Given the description of an element on the screen output the (x, y) to click on. 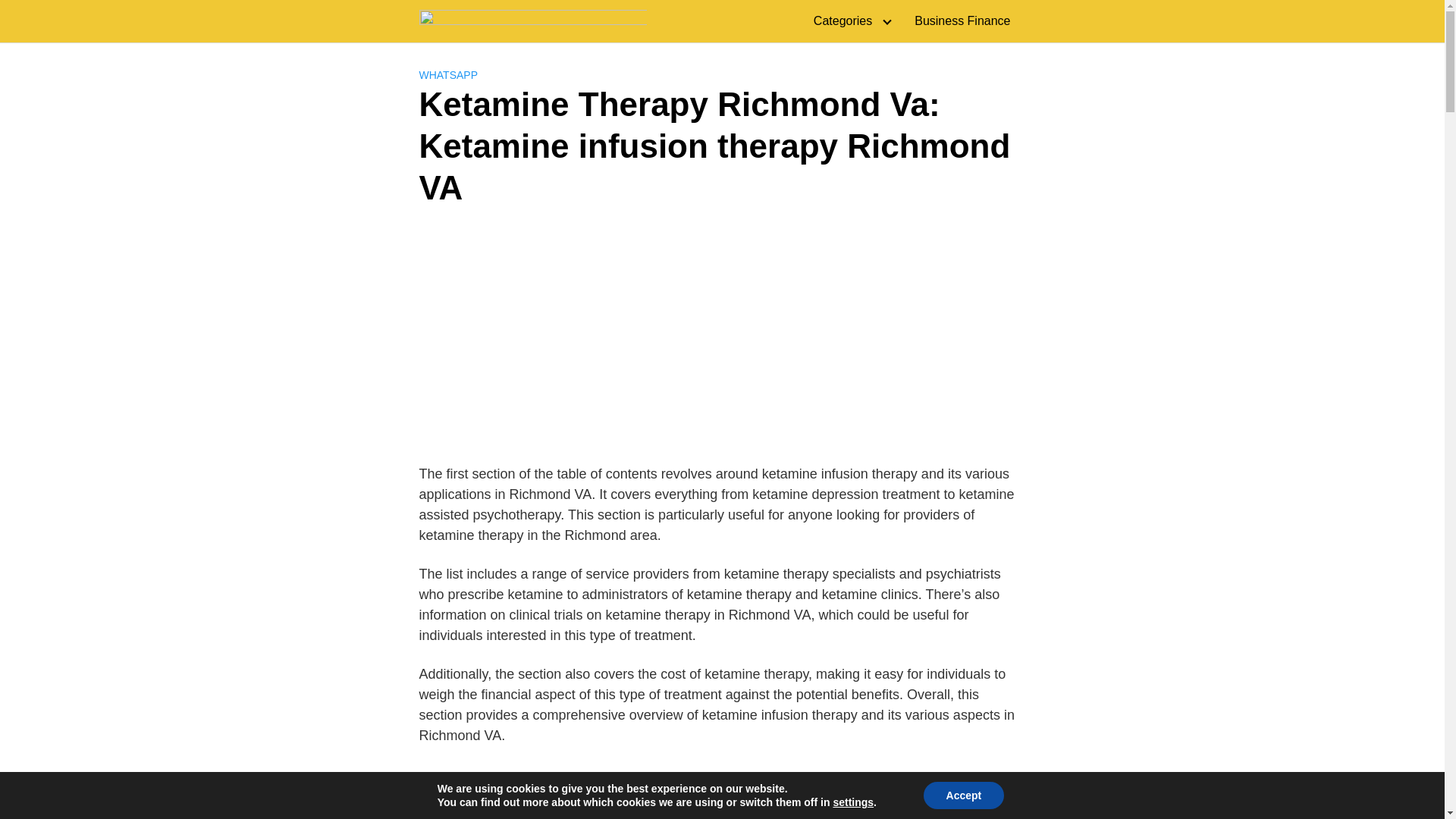
WHATSAPP (448, 74)
Advertisement (722, 791)
Categories (848, 21)
Advertisement (722, 338)
Business Finance (962, 21)
